Given the description of an element on the screen output the (x, y) to click on. 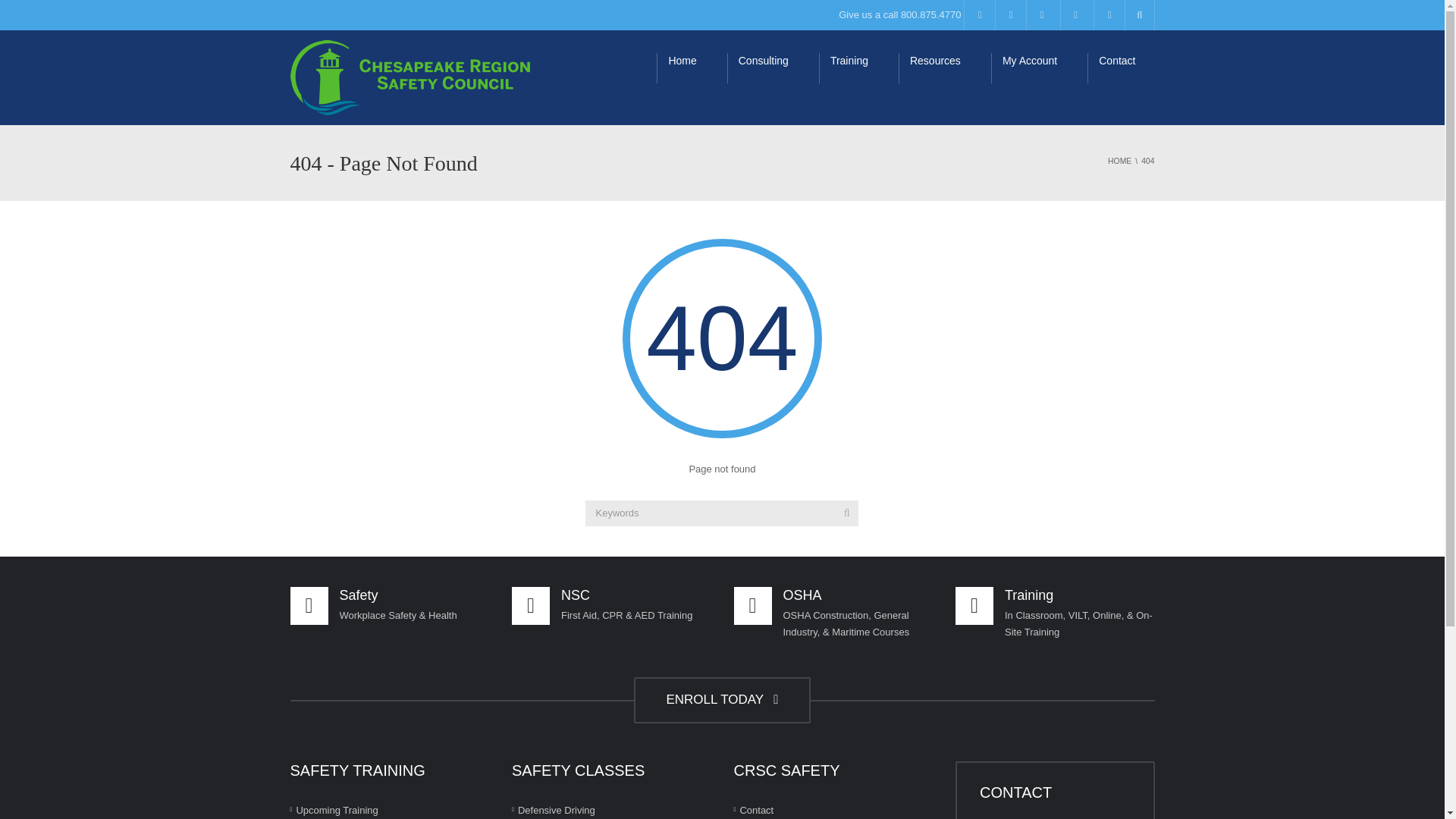
Search (846, 513)
Resources (944, 68)
Training (858, 68)
Home (691, 68)
Consulting (772, 68)
